Given the description of an element on the screen output the (x, y) to click on. 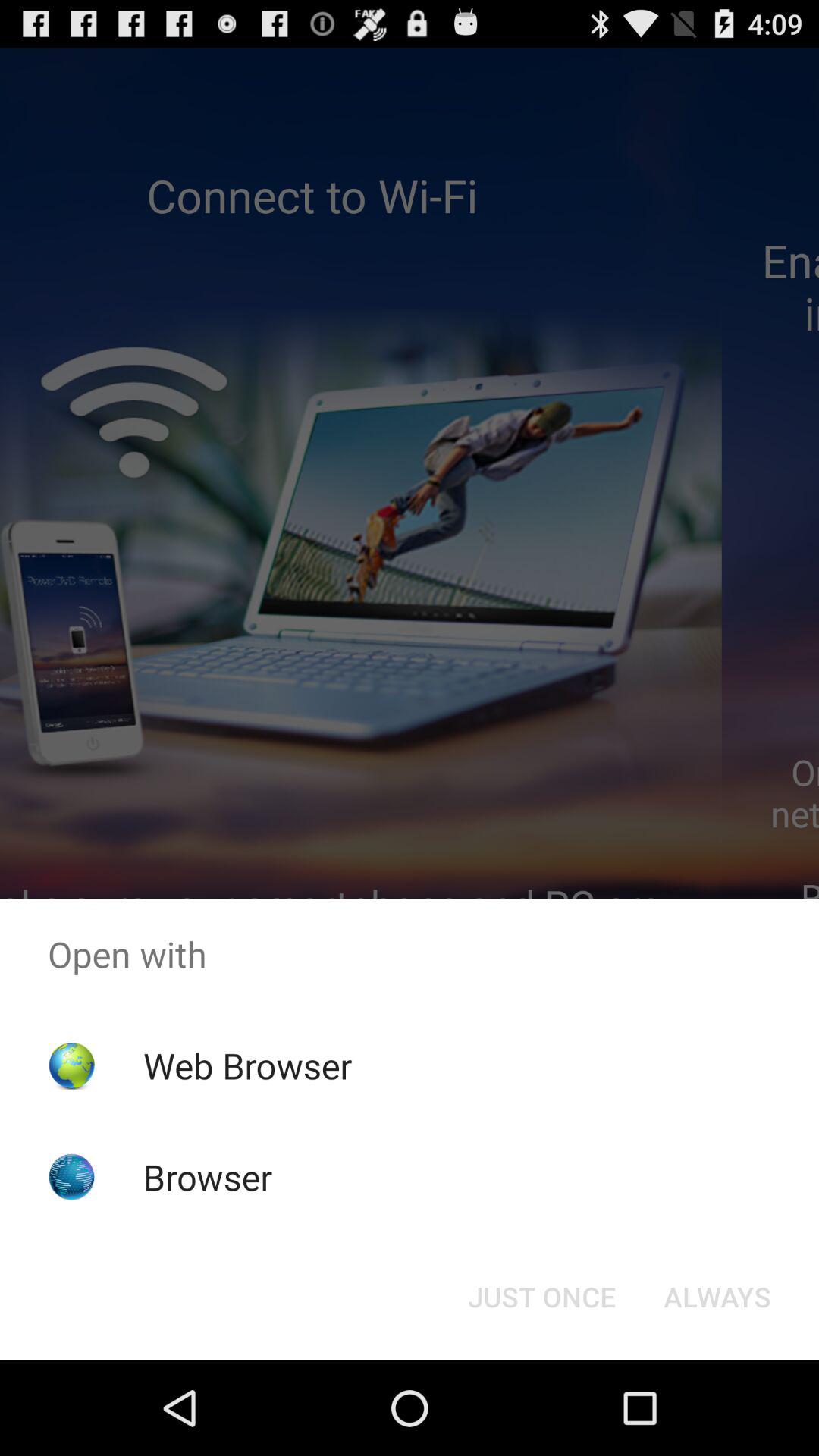
tap the just once (541, 1296)
